Given the description of an element on the screen output the (x, y) to click on. 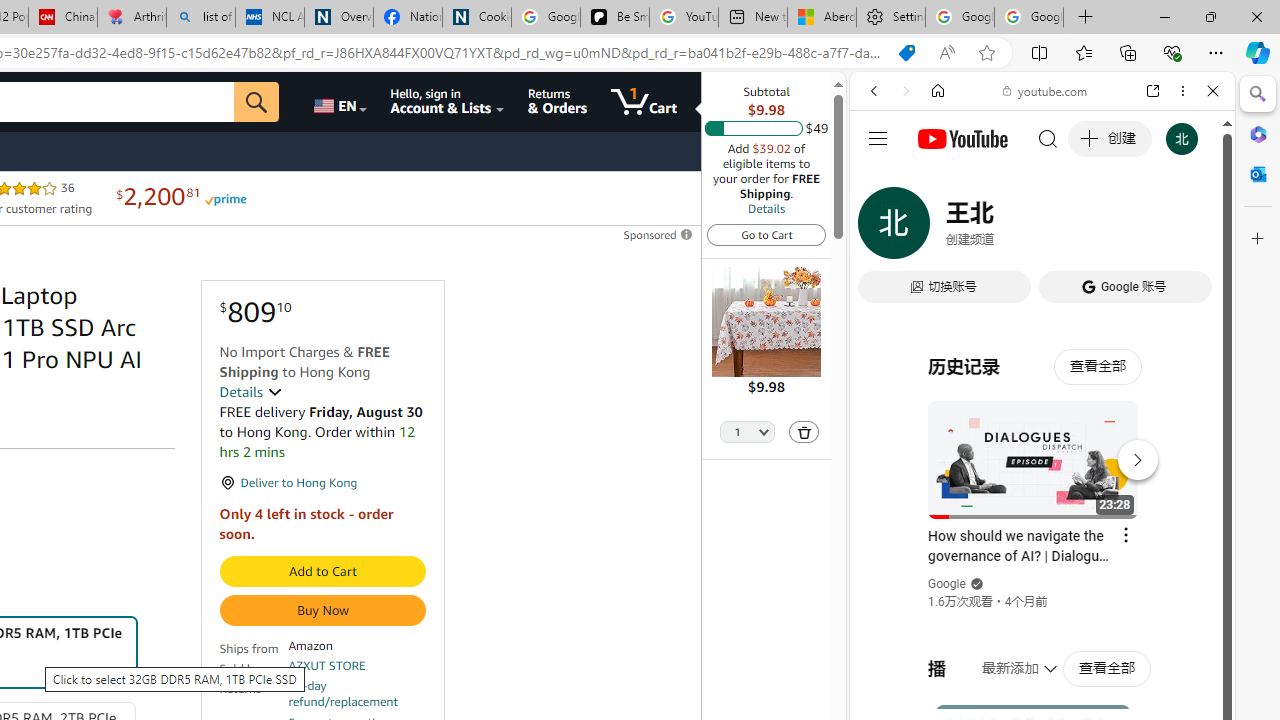
Details (765, 208)
Quantity Selector (747, 433)
Prime (224, 198)
Music (1042, 543)
